Given the description of an element on the screen output the (x, y) to click on. 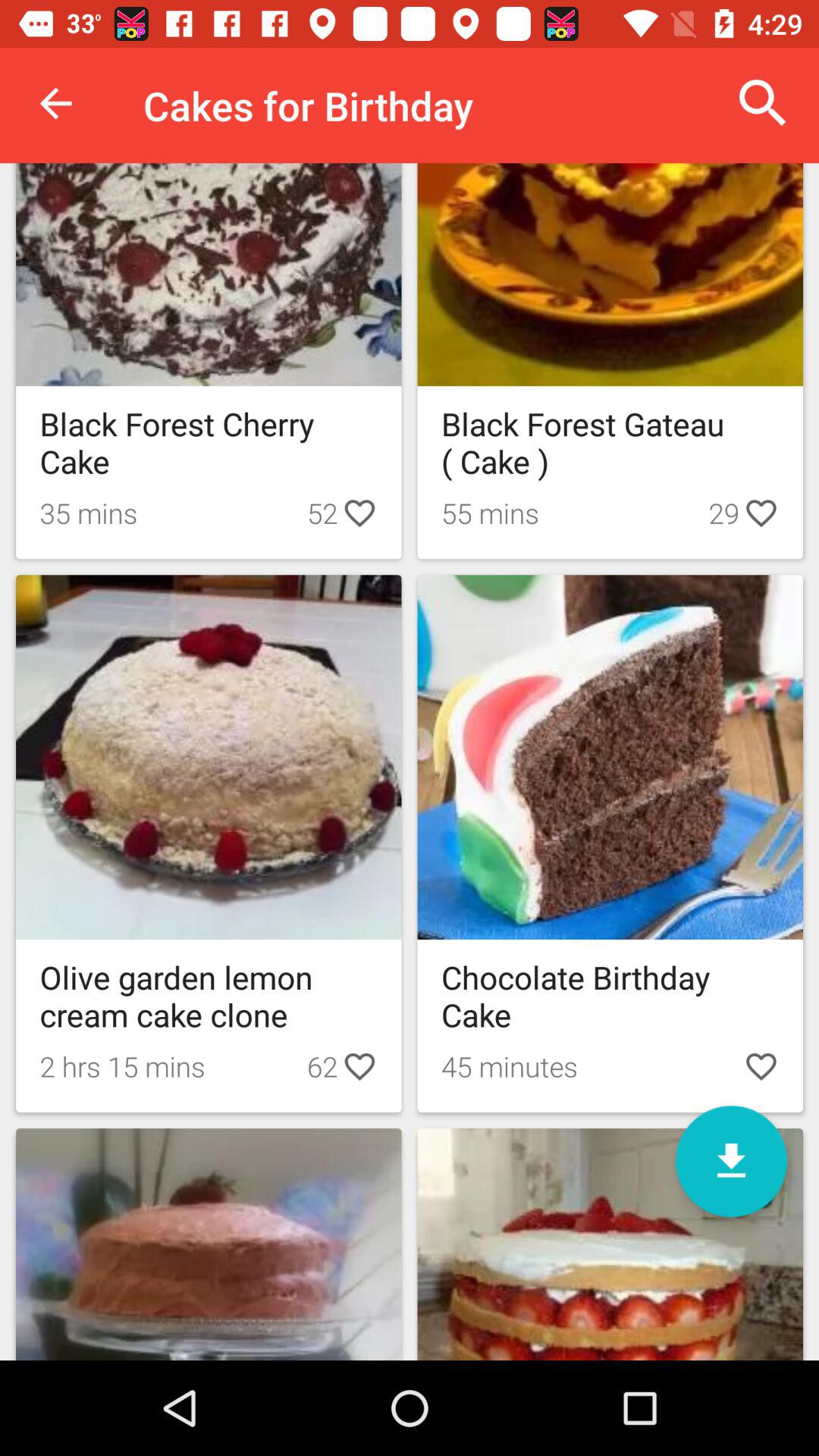
launch item to the left of cakes for birthday item (55, 103)
